Given the description of an element on the screen output the (x, y) to click on. 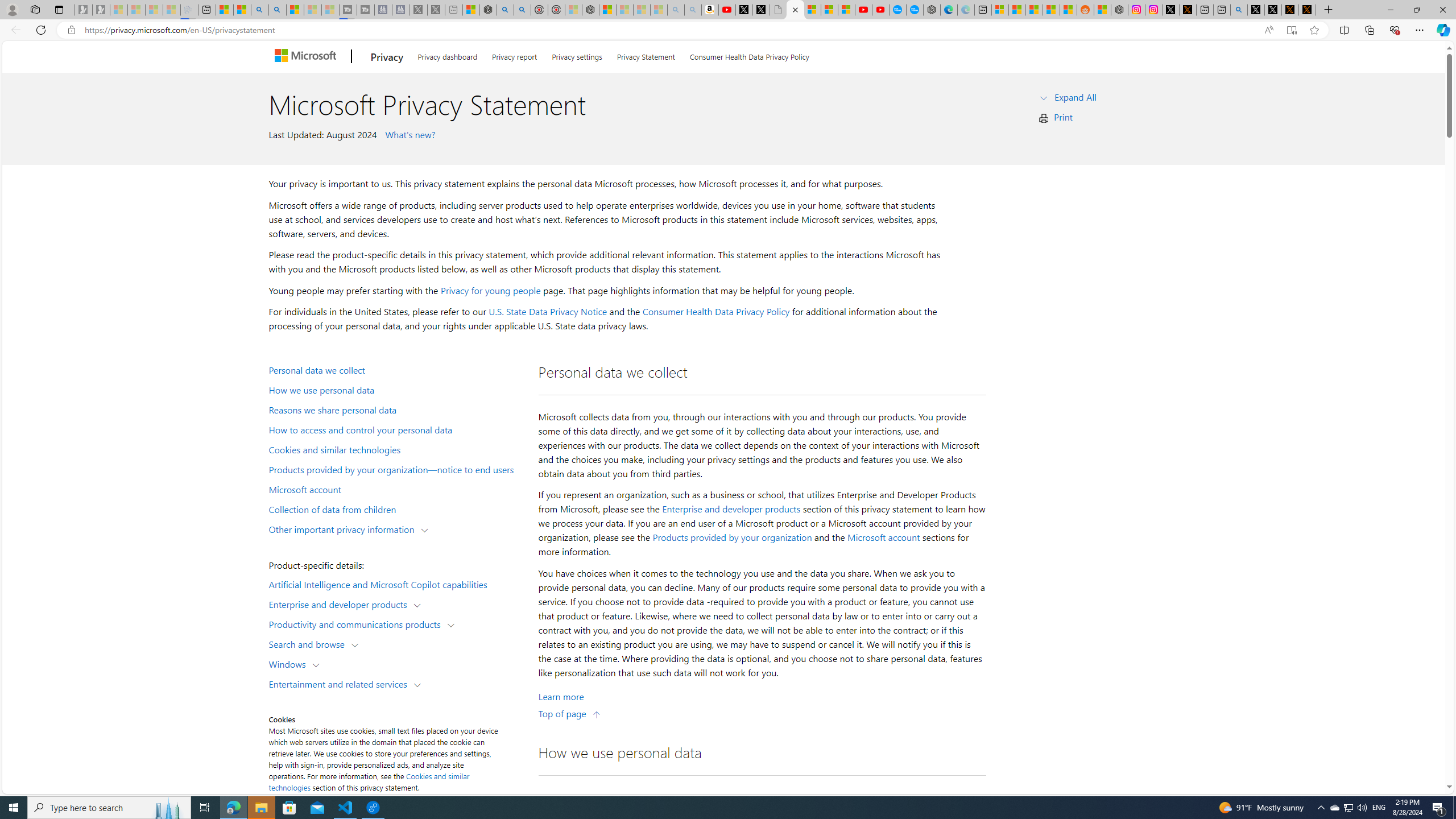
Artificial Intelligence and Microsoft Copilot capabilities (395, 583)
Other important privacy information (343, 528)
Microsoft account (395, 488)
Search and browse (308, 643)
Privacy Statement (645, 54)
Reasons we share personal data (395, 409)
Top of page (569, 713)
